Given the description of an element on the screen output the (x, y) to click on. 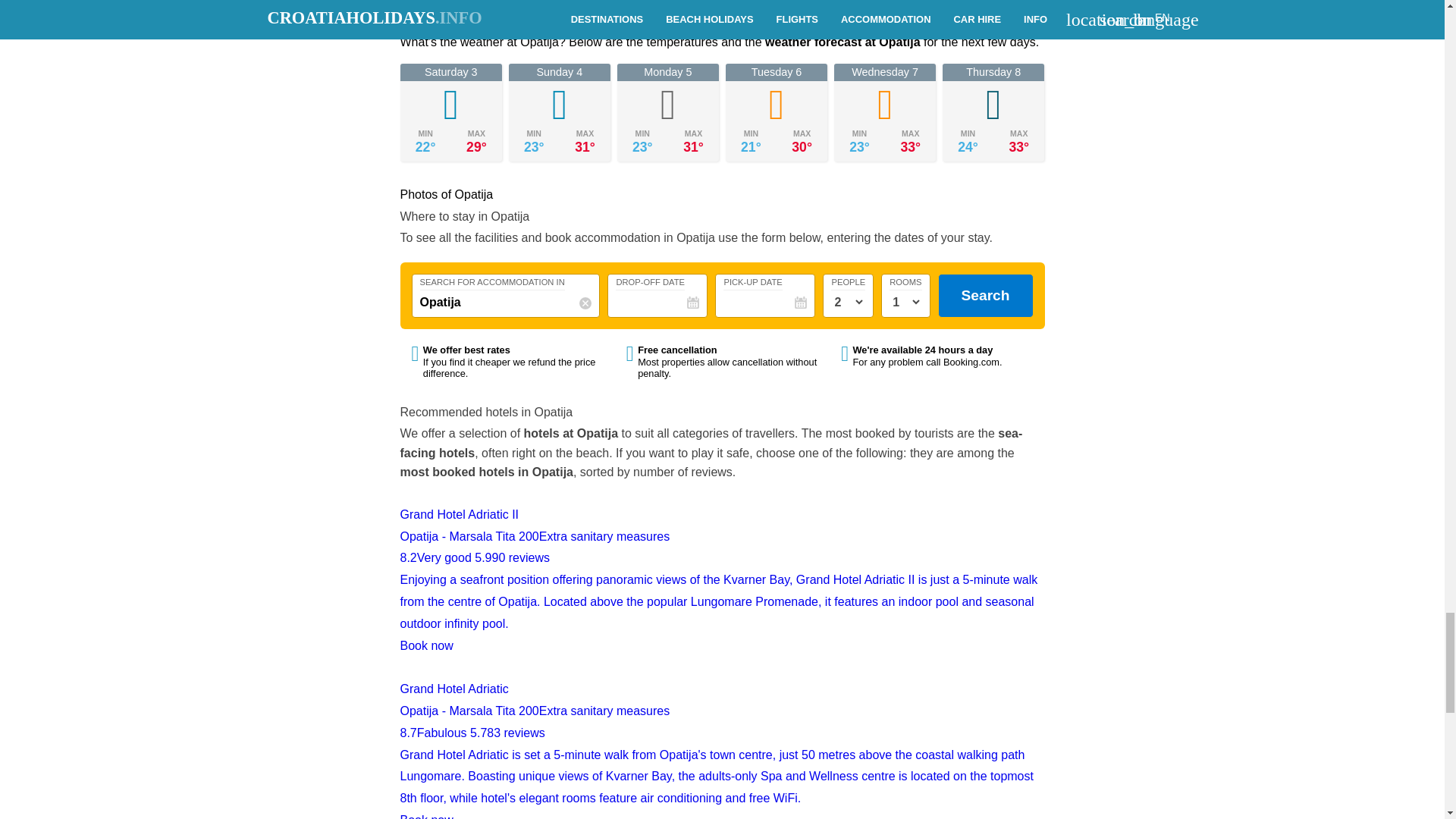
Grand Hotel Adriatic II (722, 569)
Opatija (506, 302)
Grand Hotel Adriatic (722, 737)
